Given the description of an element on the screen output the (x, y) to click on. 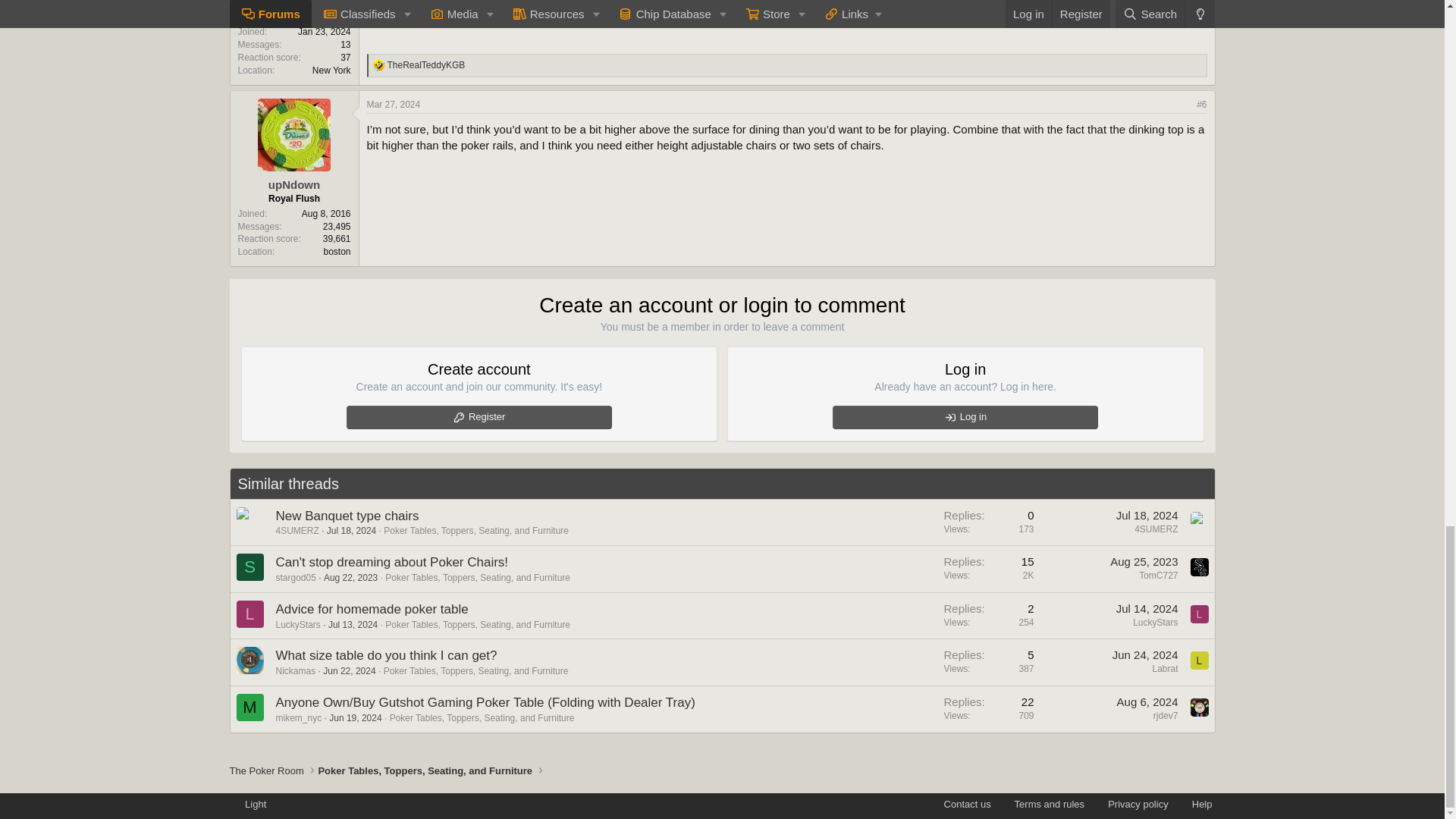
Jul 18, 2024 at 7:39 PM (350, 530)
Mar 27, 2024 at 9:24 PM (393, 104)
Haha (378, 64)
